Given the description of an element on the screen output the (x, y) to click on. 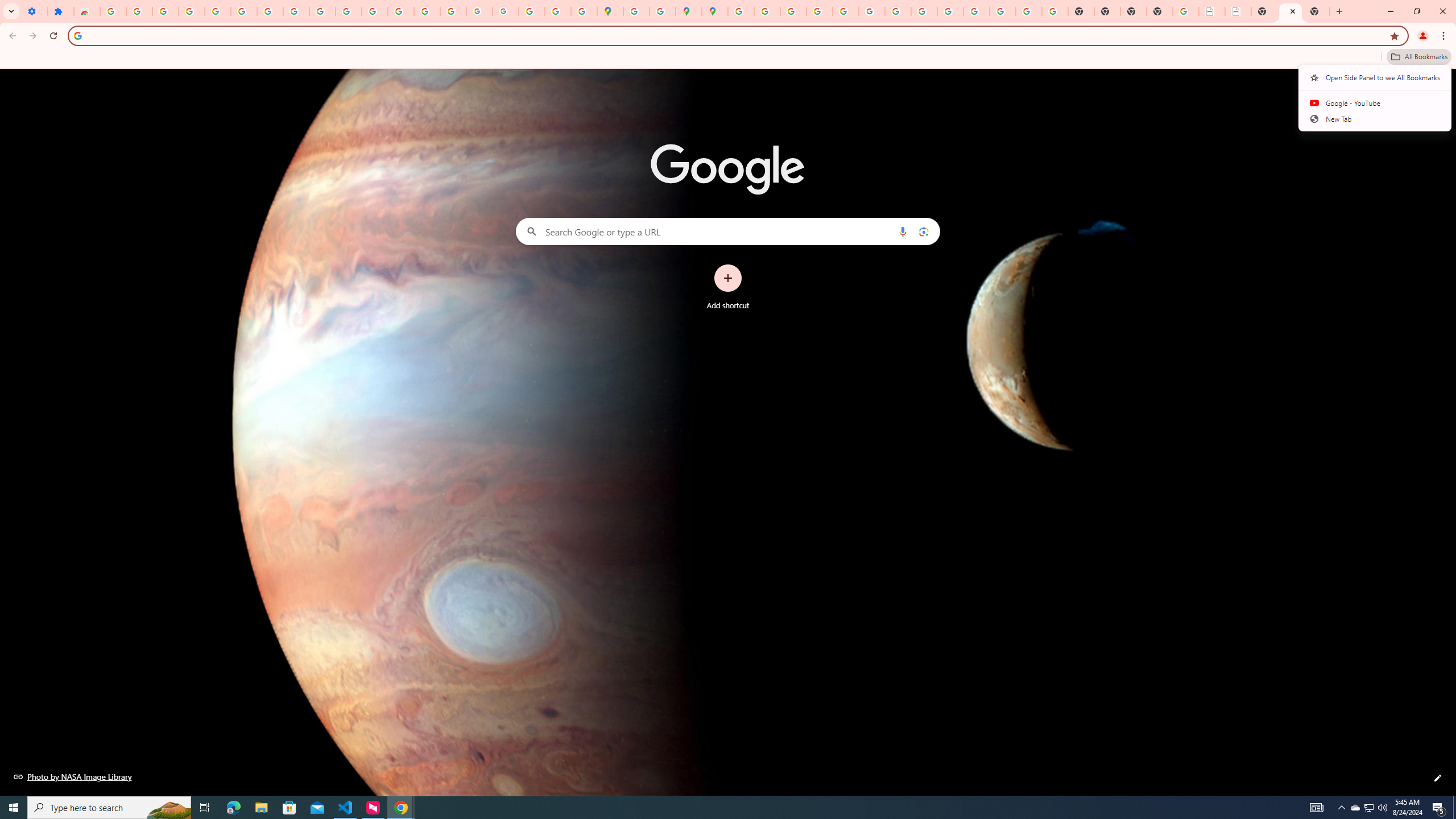
LAAD Defence & Security 2025 | BAE Systems (1211, 11)
Sign in - Google Accounts (112, 11)
Reviews: Helix Fruit Jump Arcade Game (86, 11)
Add shortcut (727, 287)
Search by image (922, 230)
Customize this page (1437, 778)
YouTube (322, 11)
YouTube (897, 11)
Safety in Our Products - Google Safety Center (663, 11)
